Given the description of an element on the screen output the (x, y) to click on. 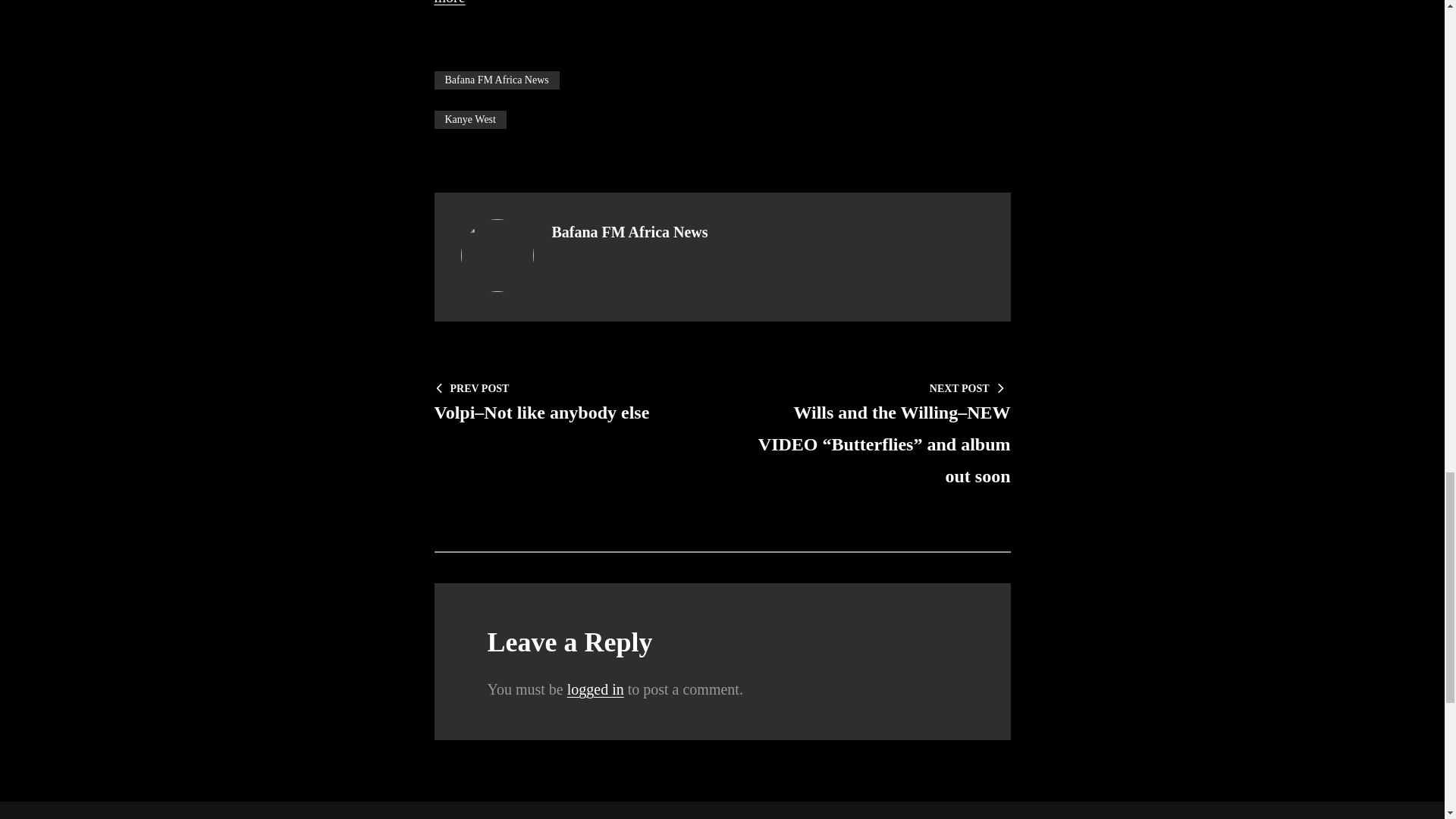
more (448, 2)
logged in (595, 688)
Kanye West (469, 119)
Bafana FM Africa News (496, 80)
